Given the description of an element on the screen output the (x, y) to click on. 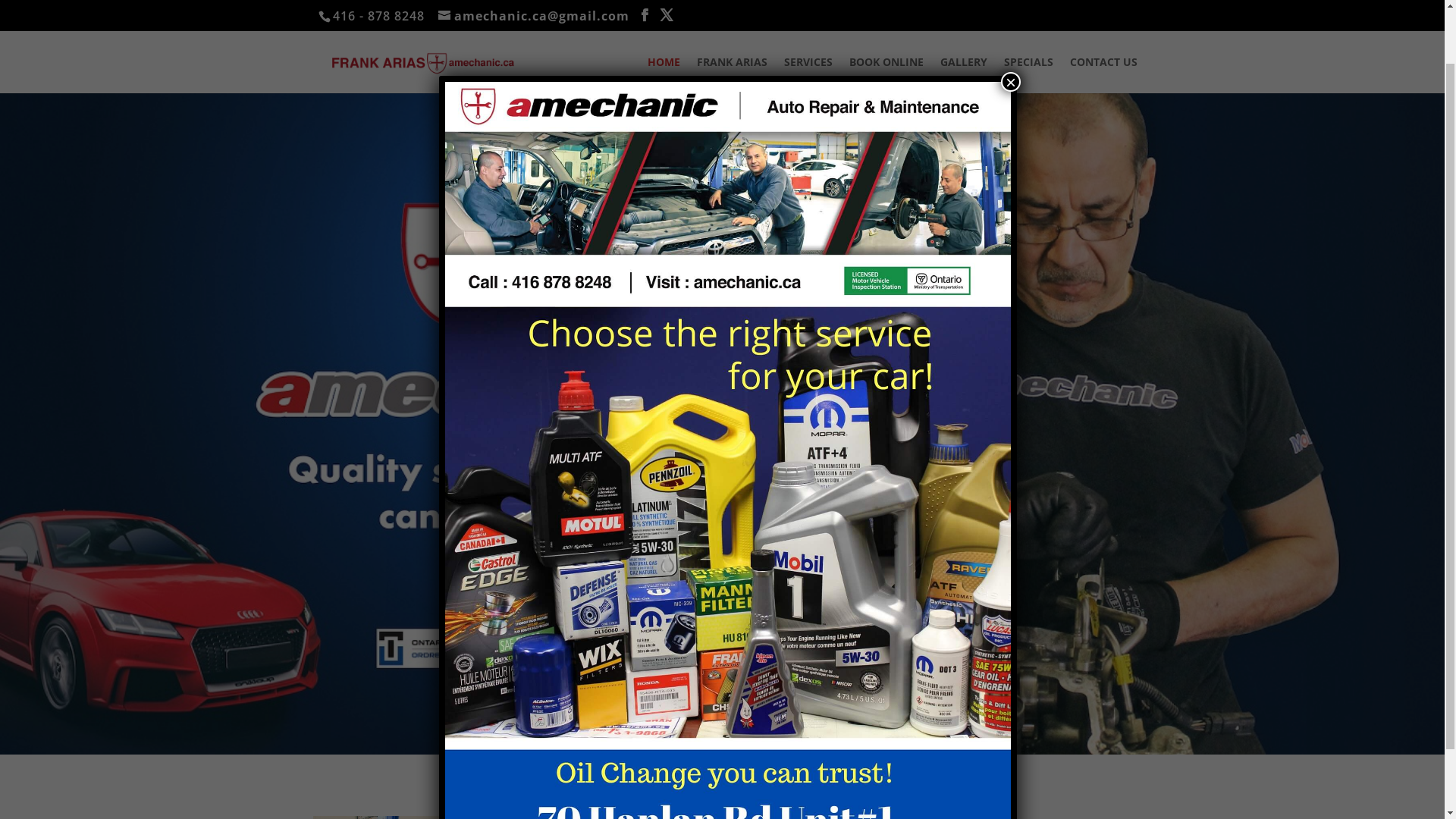
SPECIALS Element type: text (1028, 74)
FRANK ARIAS Element type: text (731, 74)
BOOK ONLINE Element type: text (886, 74)
2 Element type: text (728, 723)
HOME Element type: text (663, 74)
amechanic.ca@gmail.com Element type: text (533, 15)
CONTACT US Element type: text (1103, 74)
GALLERY Element type: text (963, 74)
1 Element type: text (715, 723)
SERVICES Element type: text (808, 74)
